Given the description of an element on the screen output the (x, y) to click on. 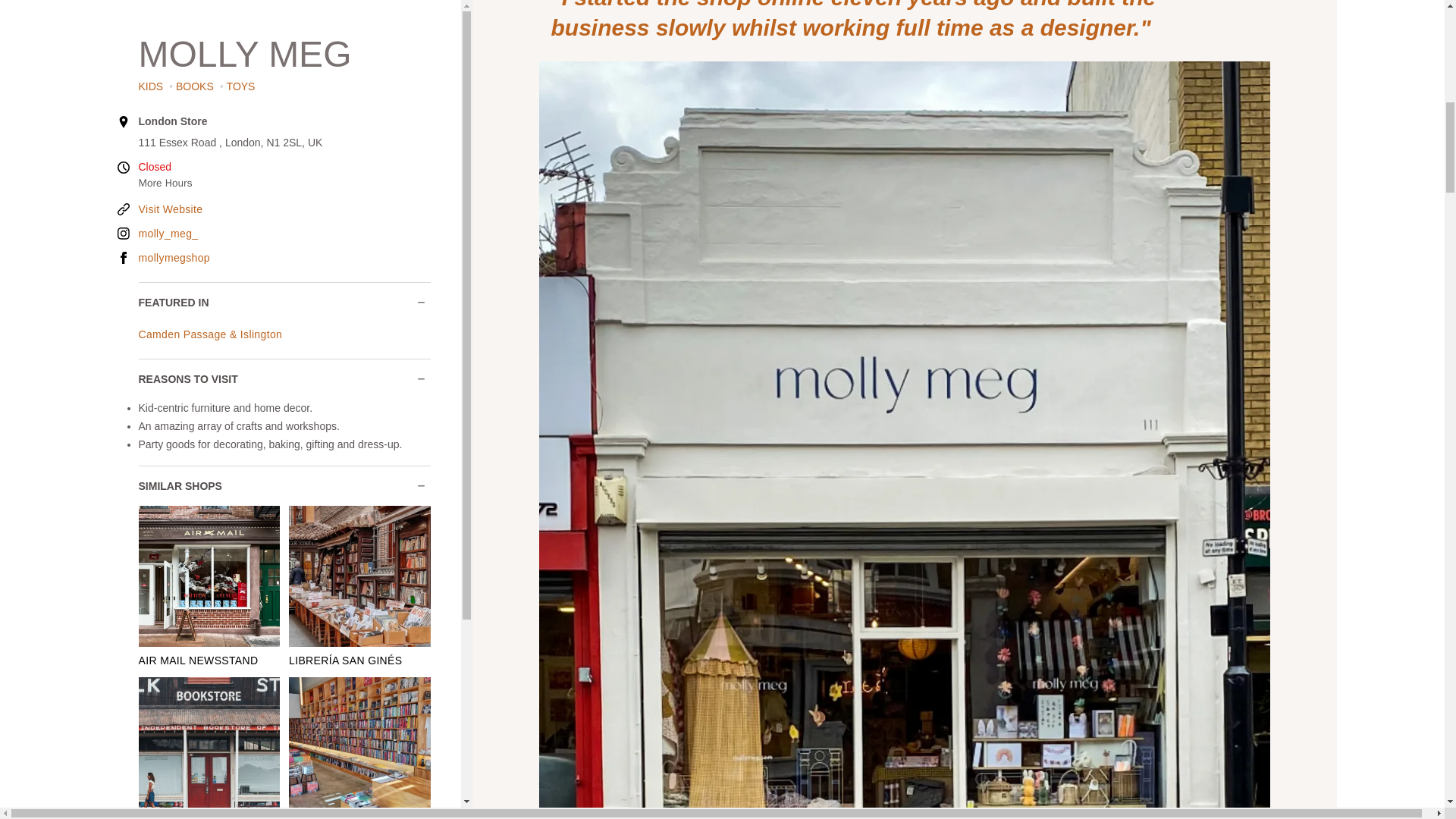
SIMILAR SHOPS (283, 292)
Visit Website (283, 15)
REASONS TO VISIT (283, 185)
mollymegshop (283, 64)
FEATURED IN (283, 109)
